Given the description of an element on the screen output the (x, y) to click on. 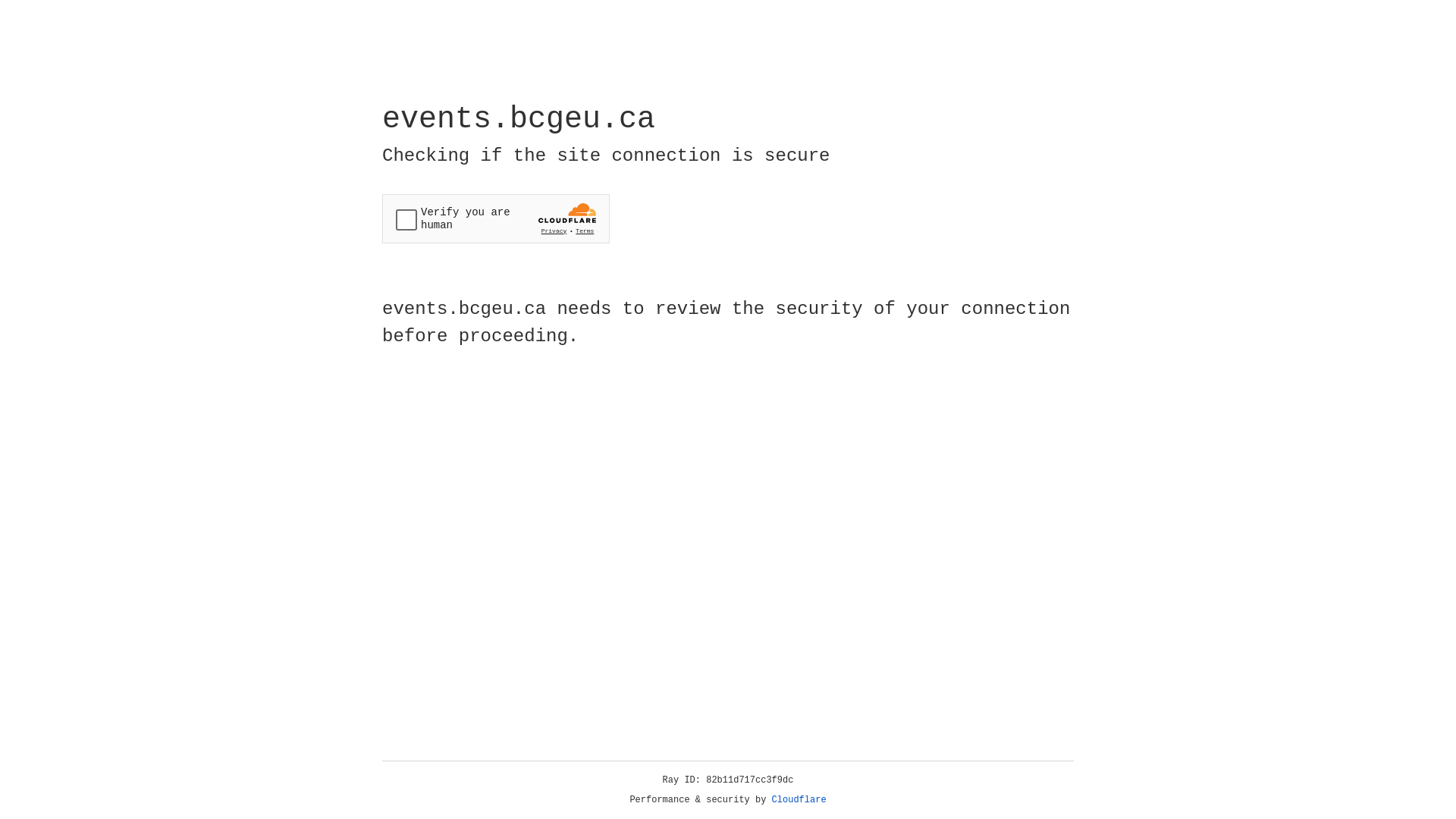
Widget containing a Cloudflare security challenge Element type: hover (495, 218)
Cloudflare Element type: text (798, 799)
